Given the description of an element on the screen output the (x, y) to click on. 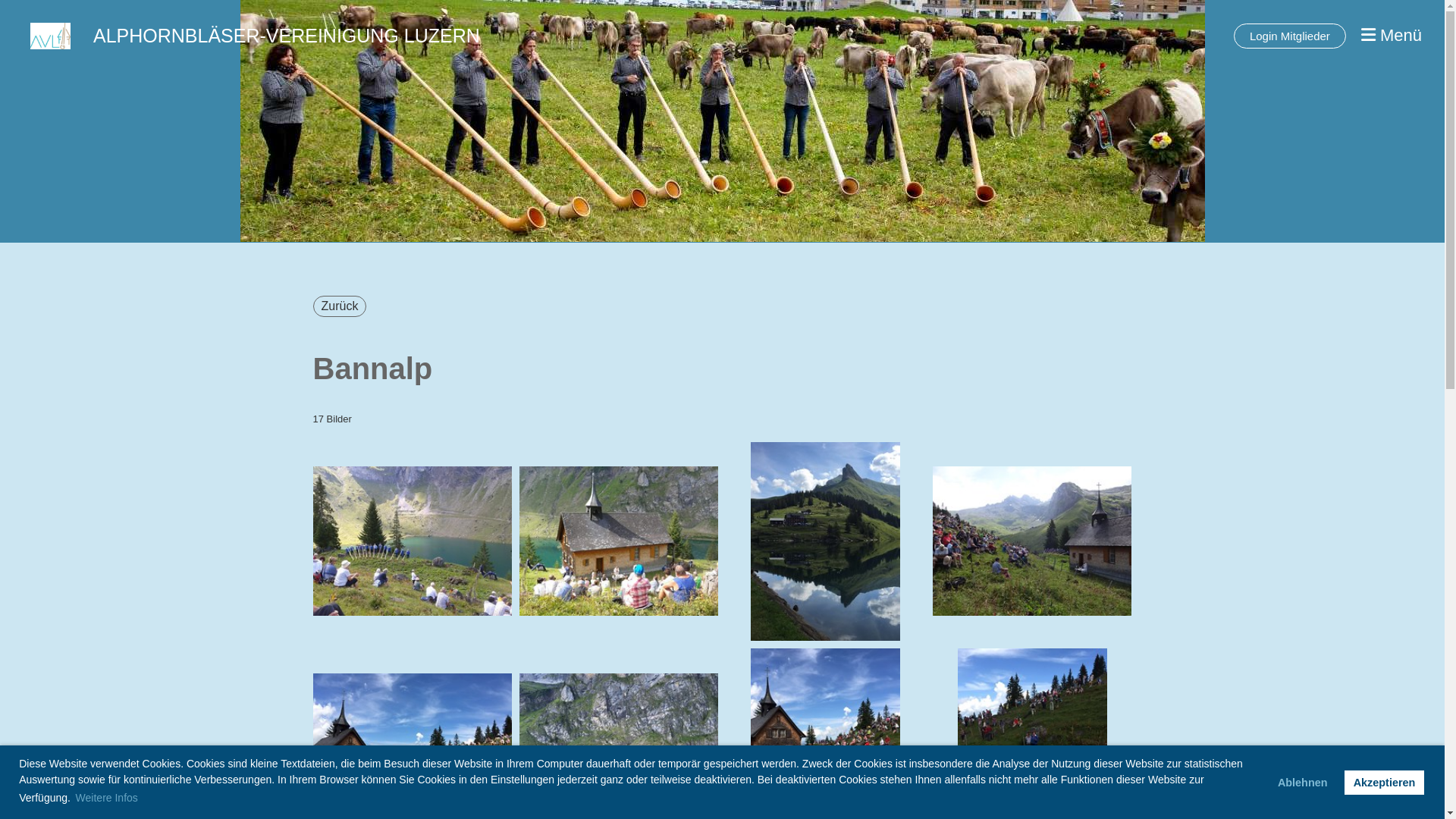
Weitere Infos Element type: text (106, 797)
Ablehnen Element type: text (1302, 782)
Login Mitglieder Element type: text (1289, 35)
Akzeptieren Element type: text (1384, 782)
